Given the description of an element on the screen output the (x, y) to click on. 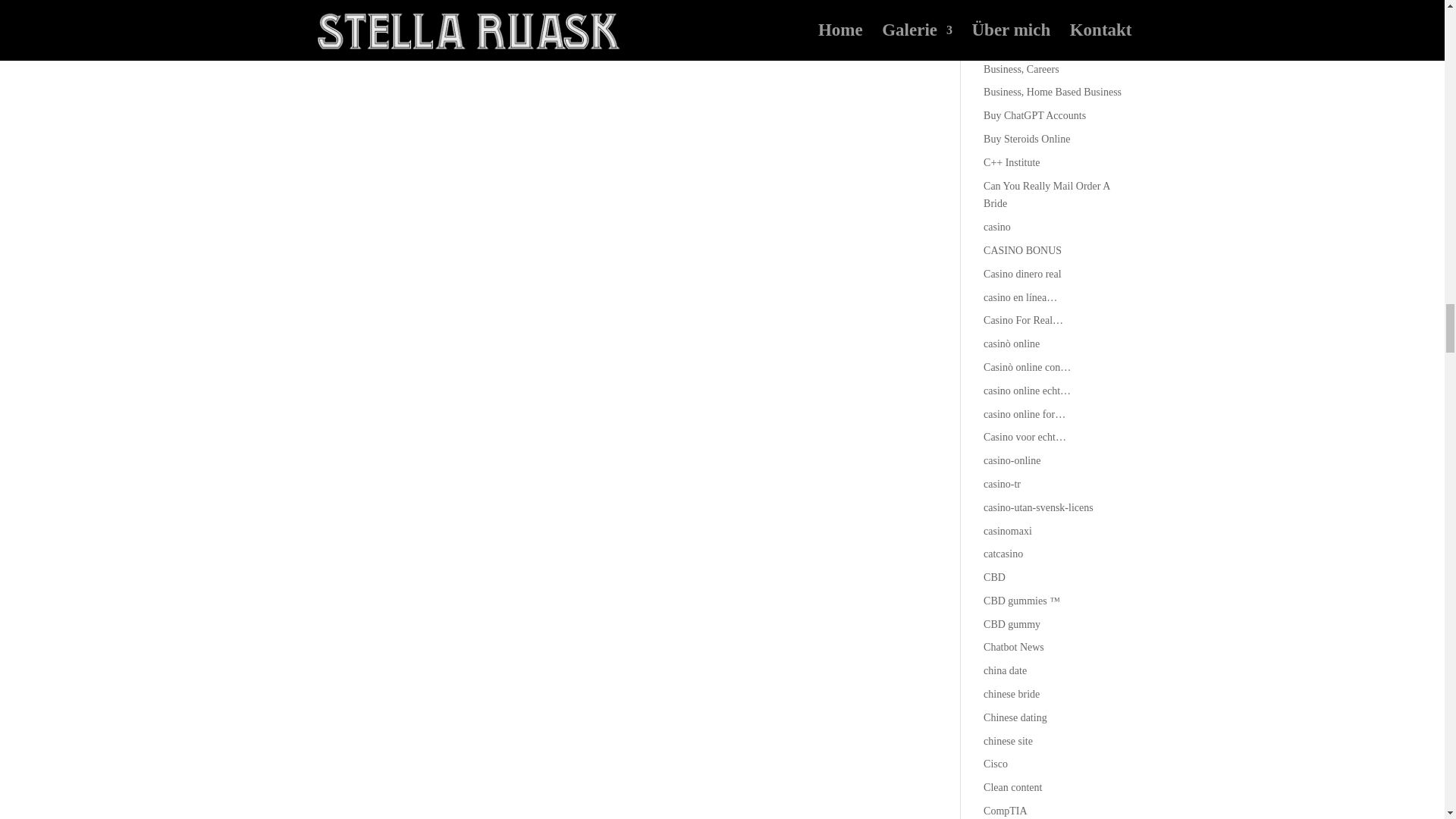
Business, Advertising (1029, 45)
Business, Home Based Business (1052, 91)
Business, Careers (1021, 69)
